Given the description of an element on the screen output the (x, y) to click on. 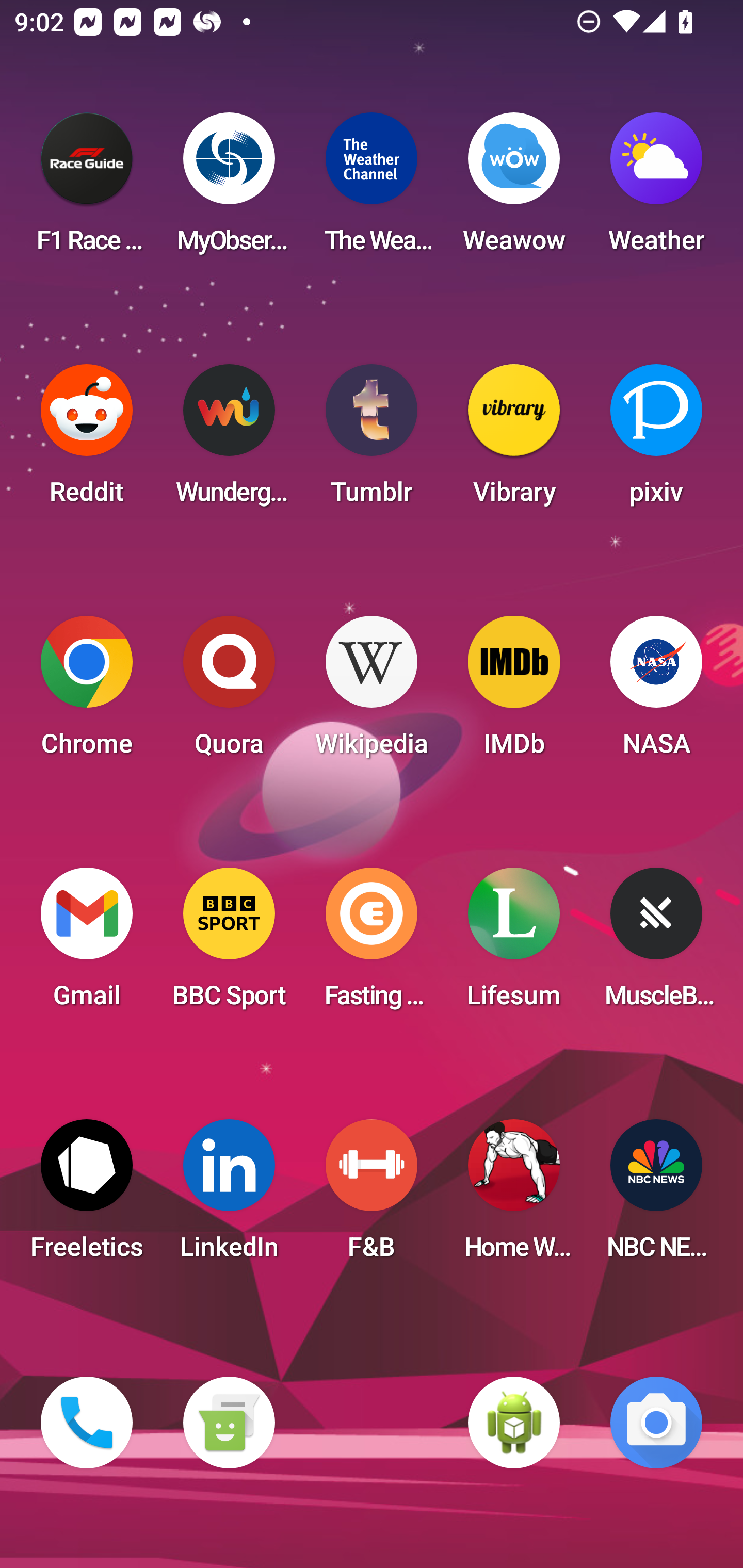
F1 Race Guide (86, 188)
MyObservatory (228, 188)
The Weather Channel (371, 188)
Weawow (513, 188)
Weather (656, 188)
Reddit (86, 440)
Wunderground (228, 440)
Tumblr (371, 440)
Vibrary (513, 440)
pixiv (656, 440)
Chrome (86, 692)
Quora (228, 692)
Wikipedia (371, 692)
IMDb (513, 692)
NASA (656, 692)
Gmail (86, 943)
BBC Sport (228, 943)
Fasting Coach (371, 943)
Lifesum (513, 943)
MuscleBooster (656, 943)
Freeletics (86, 1195)
LinkedIn (228, 1195)
F&B (371, 1195)
Home Workout (513, 1195)
NBC NEWS (656, 1195)
Phone (86, 1422)
Messaging (228, 1422)
WebView Browser Tester (513, 1422)
Camera (656, 1422)
